Given the description of an element on the screen output the (x, y) to click on. 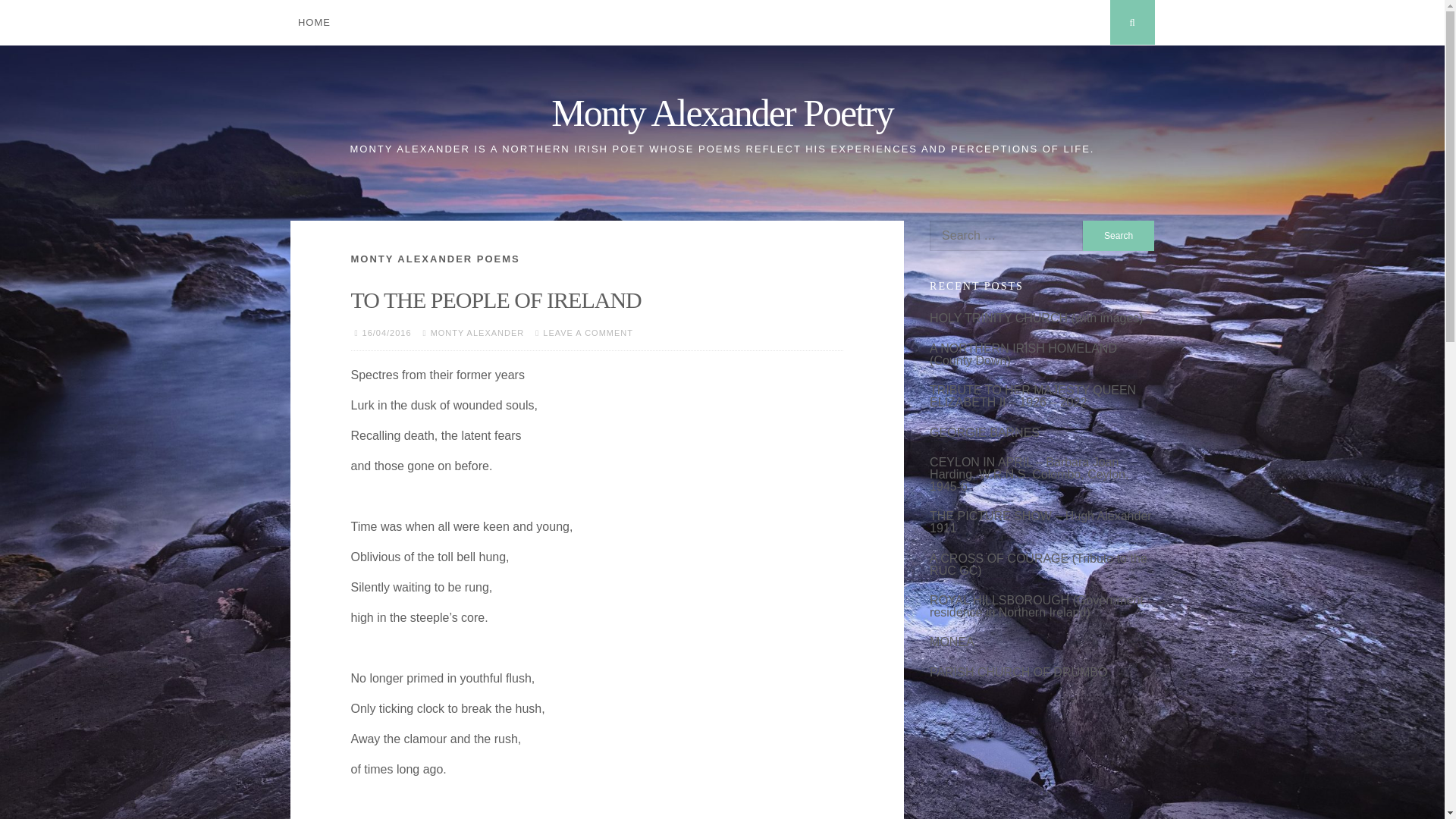
Search (1118, 235)
HOME (313, 22)
GEORGIE BARNES (984, 431)
Search (1118, 235)
PARISH CHURCH OF DRUMBO (1018, 671)
MONTY ALEXANDER POEMS (434, 258)
Search (1118, 235)
MONEA (952, 641)
MONTY ALEXANDER (477, 332)
LEAVE A COMMENT (588, 332)
